Given the description of an element on the screen output the (x, y) to click on. 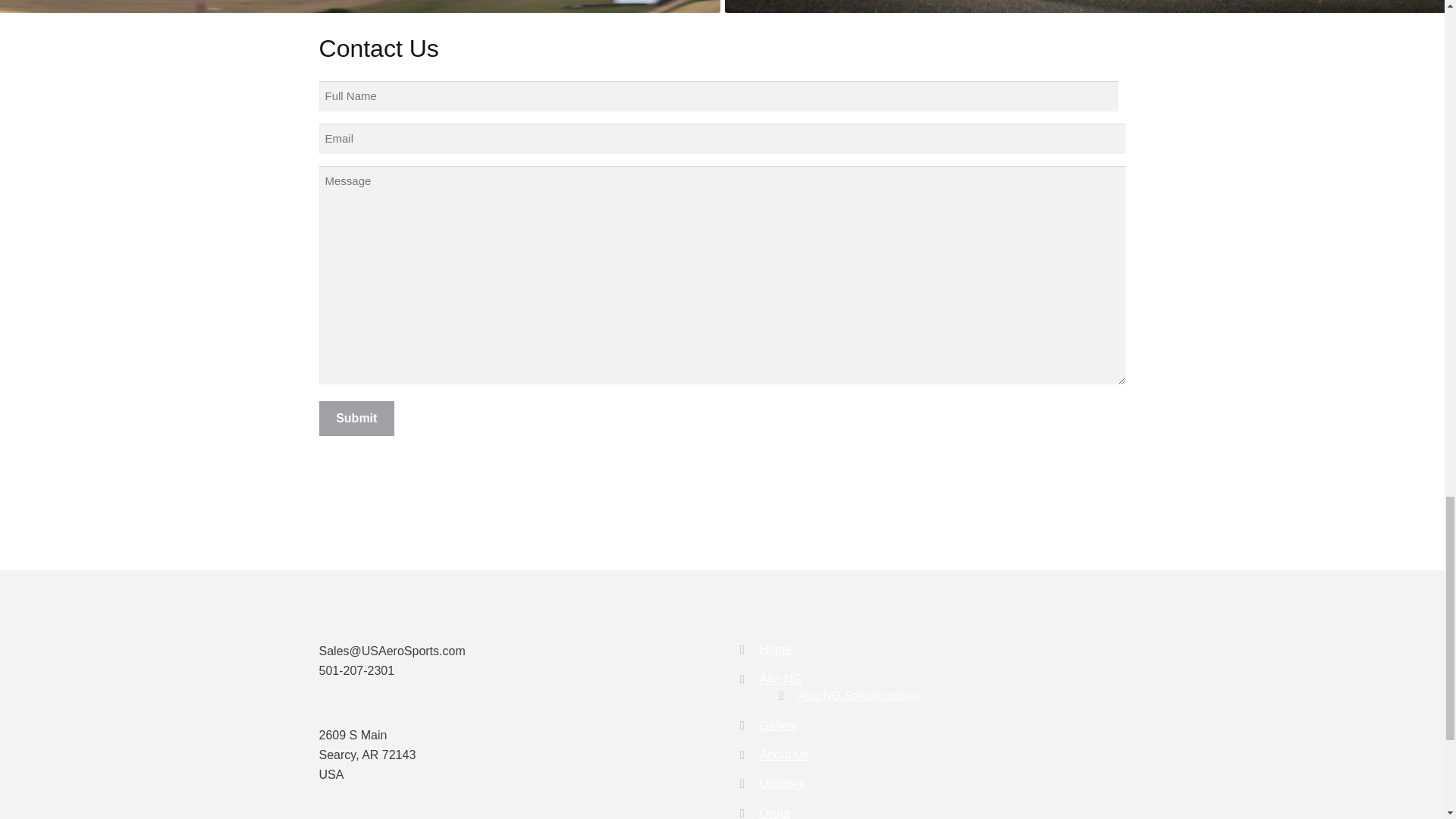
Updates (782, 783)
Home (776, 649)
Submit (356, 418)
Submit (356, 418)
Alto NG Specifications (857, 695)
Alto NG (781, 678)
About Us (784, 754)
Gallery (778, 725)
